Given the description of an element on the screen output the (x, y) to click on. 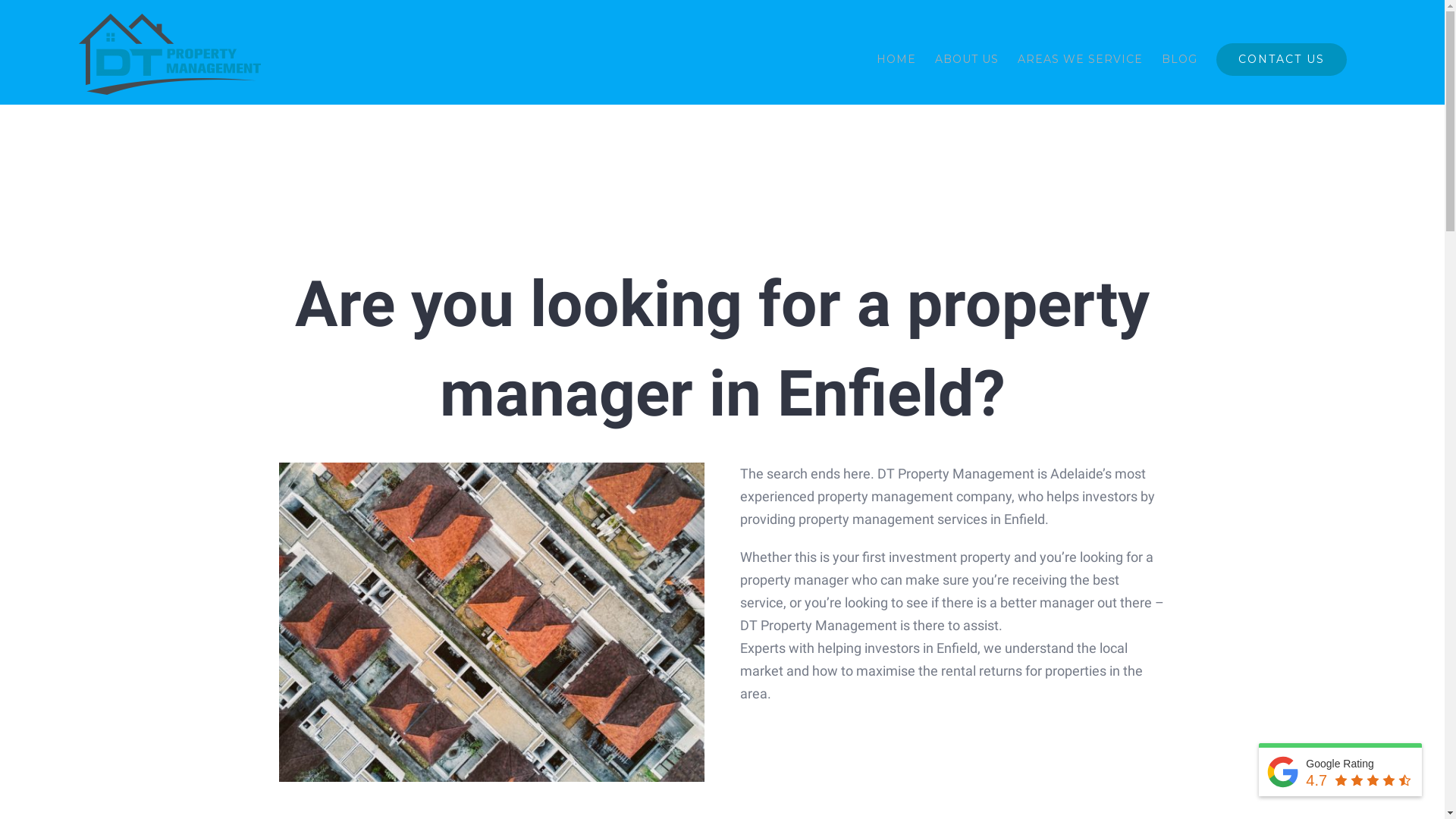
photo-1516577442575-699f7cde3310 Element type: hover (492, 621)
ABOUT US Element type: text (966, 58)
CONTACT US Element type: text (1281, 58)
HOME Element type: text (896, 58)
AREAS WE SERVICE Element type: text (1079, 58)
BLOG Element type: text (1179, 58)
